Given the description of an element on the screen output the (x, y) to click on. 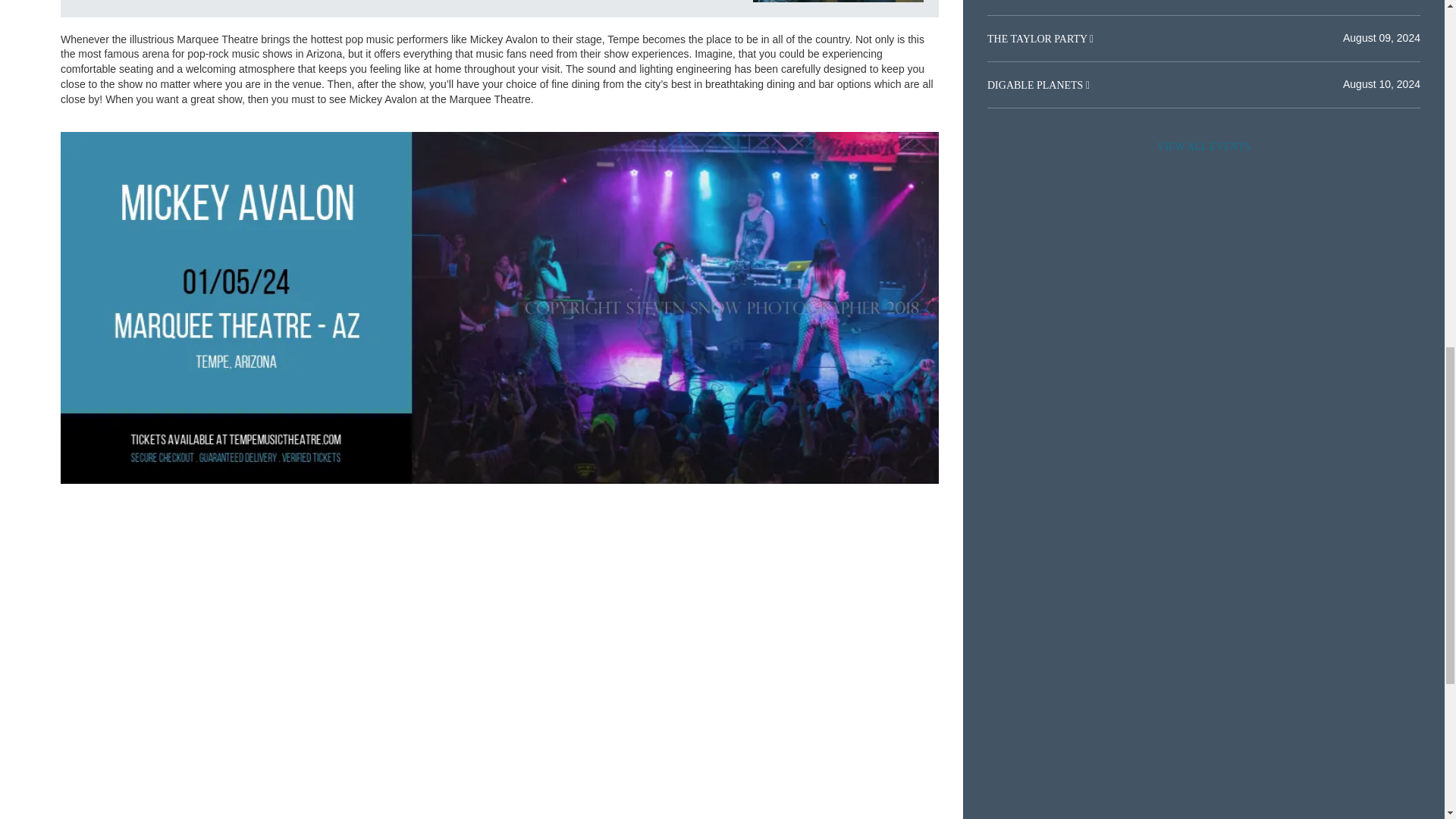
VIEW ALL EVENTS (1203, 146)
